Given the description of an element on the screen output the (x, y) to click on. 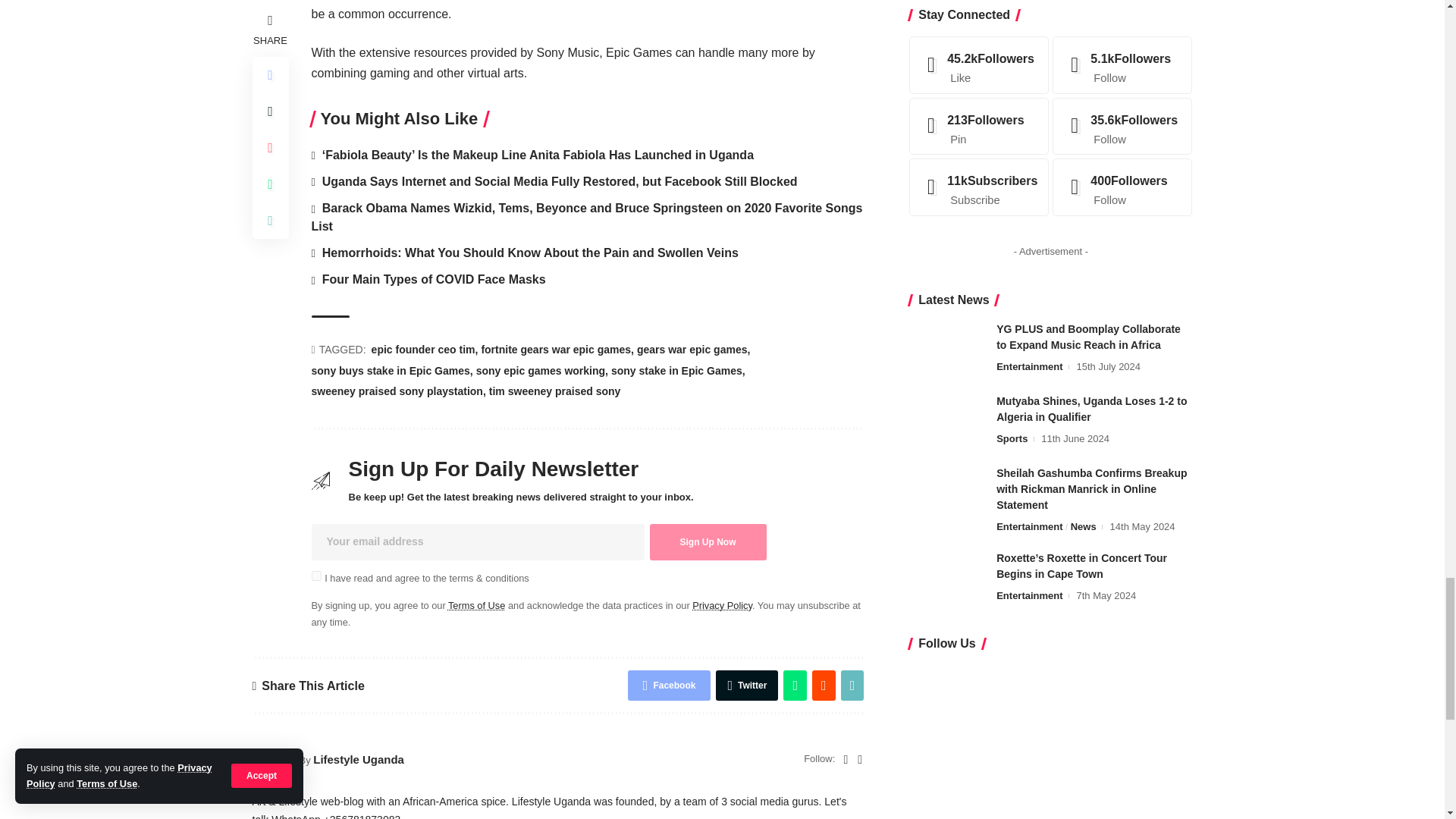
1 (315, 575)
Sign Up Now (707, 542)
